Given the description of an element on the screen output the (x, y) to click on. 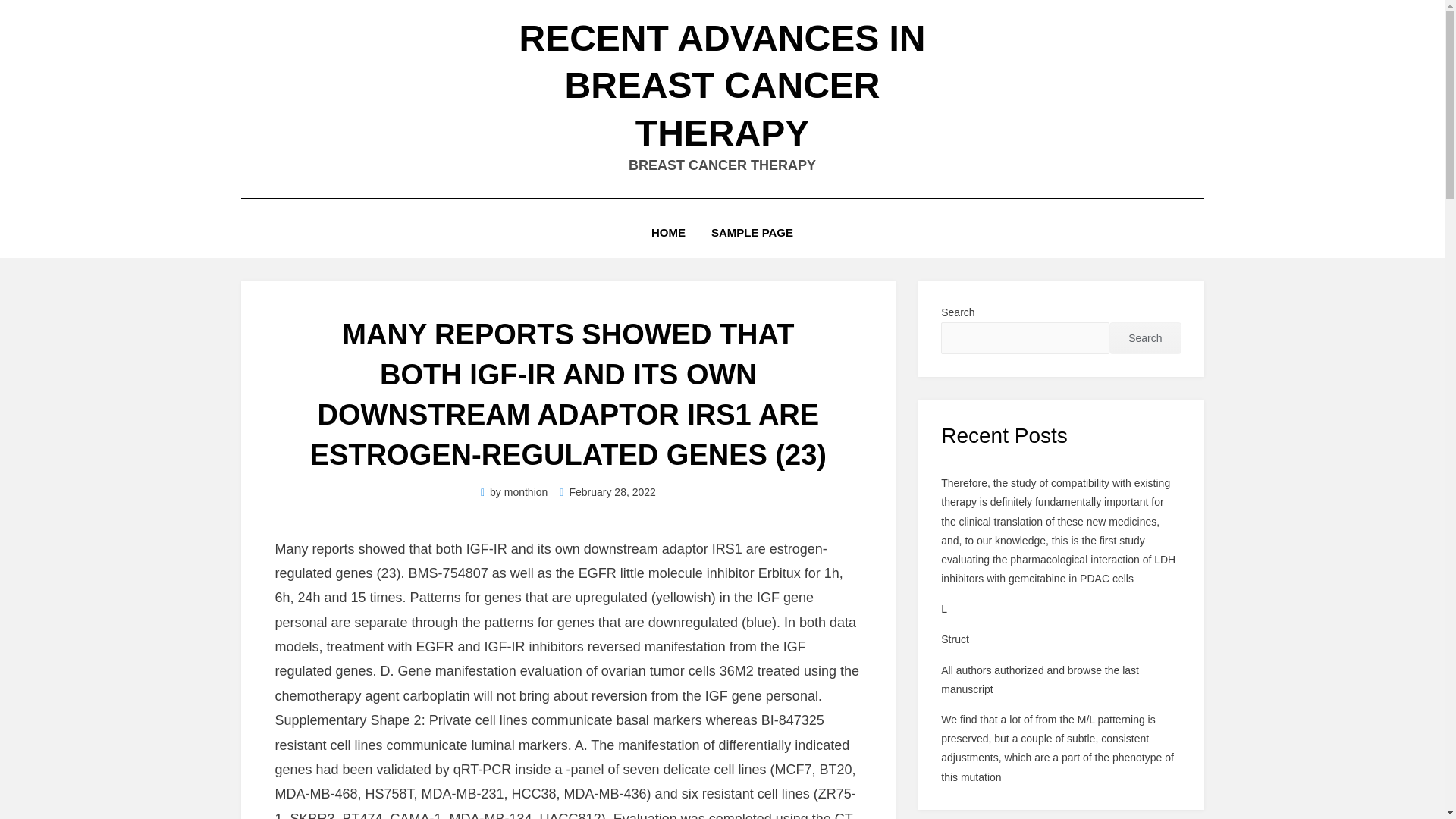
Struct (954, 639)
SAMPLE PAGE (752, 231)
HOME (668, 231)
February 28, 2022 (607, 491)
All authors authorized and browse the last manuscript (1039, 679)
Search (1144, 337)
RECENT ADVANCES IN BREAST CANCER THERAPY (721, 85)
Recent Advances in breast cancer therapy (721, 85)
monthion (525, 491)
